Given the description of an element on the screen output the (x, y) to click on. 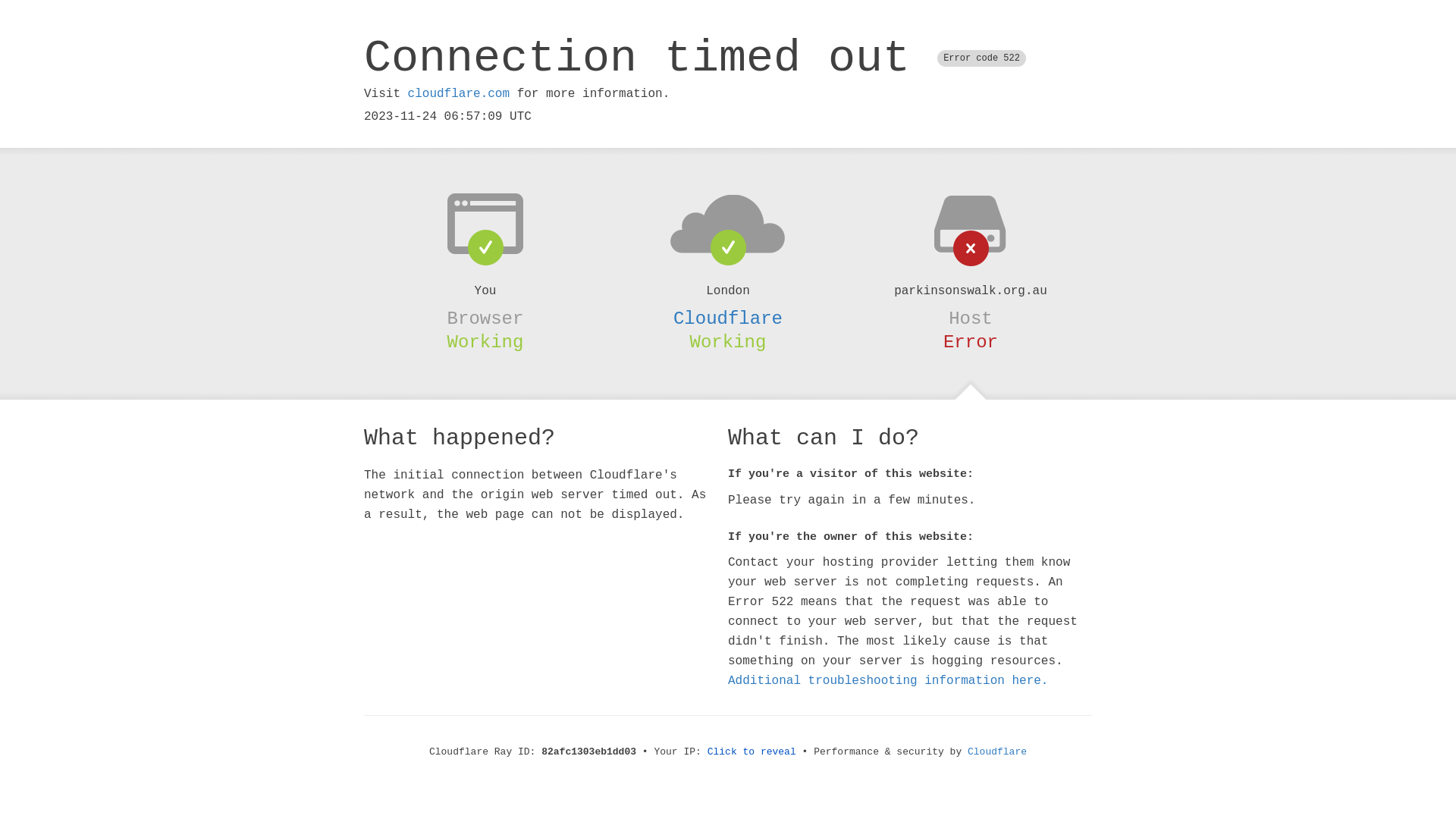
Click to reveal Element type: text (751, 751)
Cloudflare Element type: text (727, 318)
Cloudflare Element type: text (996, 751)
Additional troubleshooting information here. Element type: text (888, 680)
cloudflare.com Element type: text (458, 93)
